Given the description of an element on the screen output the (x, y) to click on. 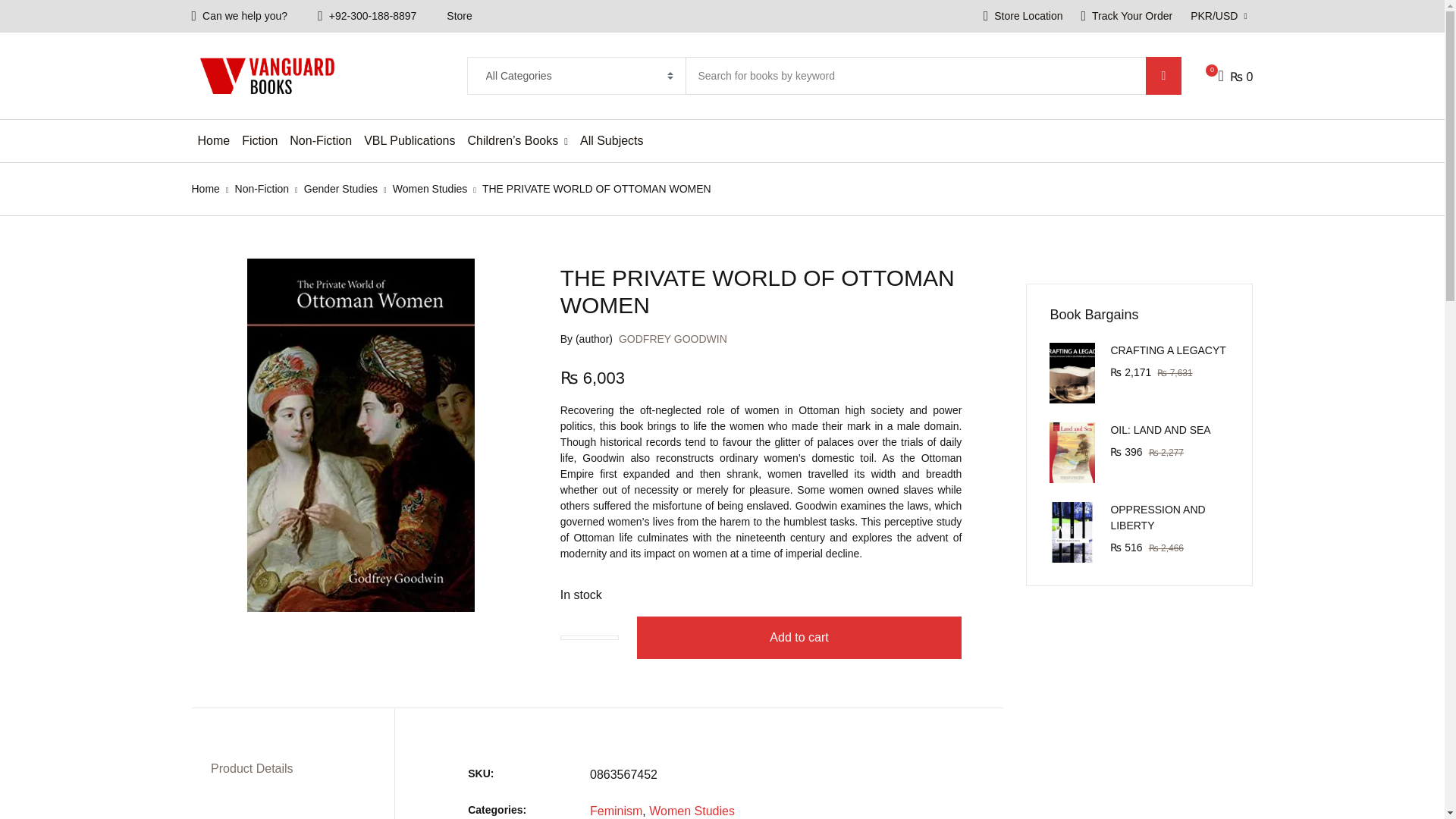
Gender Studies (340, 188)
Track Your Order (1127, 16)
Store Location (1022, 16)
Non-Fiction (261, 188)
Women Studies (430, 188)
Feminism (615, 810)
Can we help you? (239, 16)
VBL Publications (409, 140)
Home (204, 188)
Store (458, 16)
All Subjects (611, 140)
Store (458, 16)
Track Your Order (1127, 16)
Non-Fiction (320, 140)
VBL Publications (409, 140)
